Given the description of an element on the screen output the (x, y) to click on. 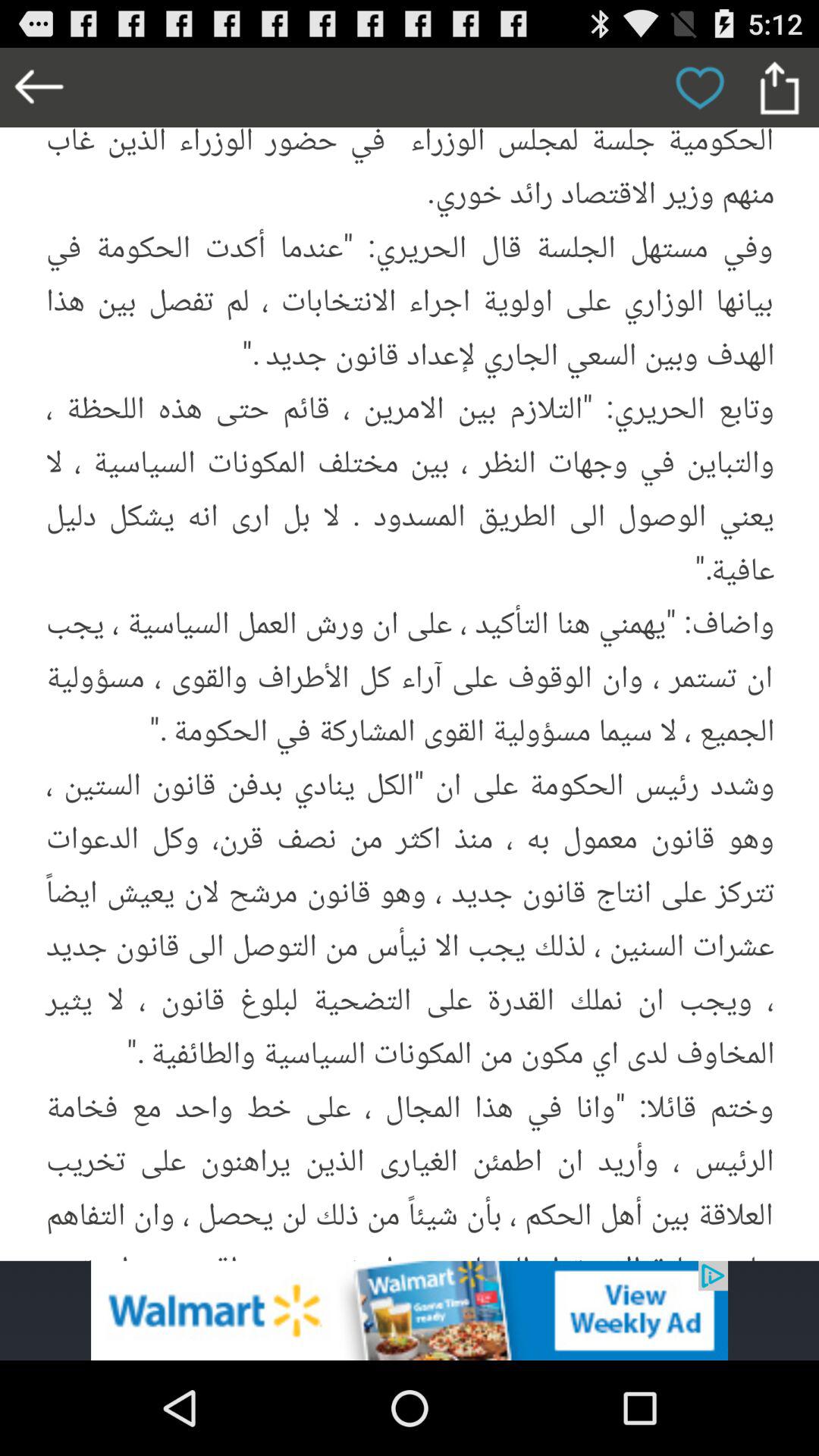
go back (39, 87)
